Given the description of an element on the screen output the (x, y) to click on. 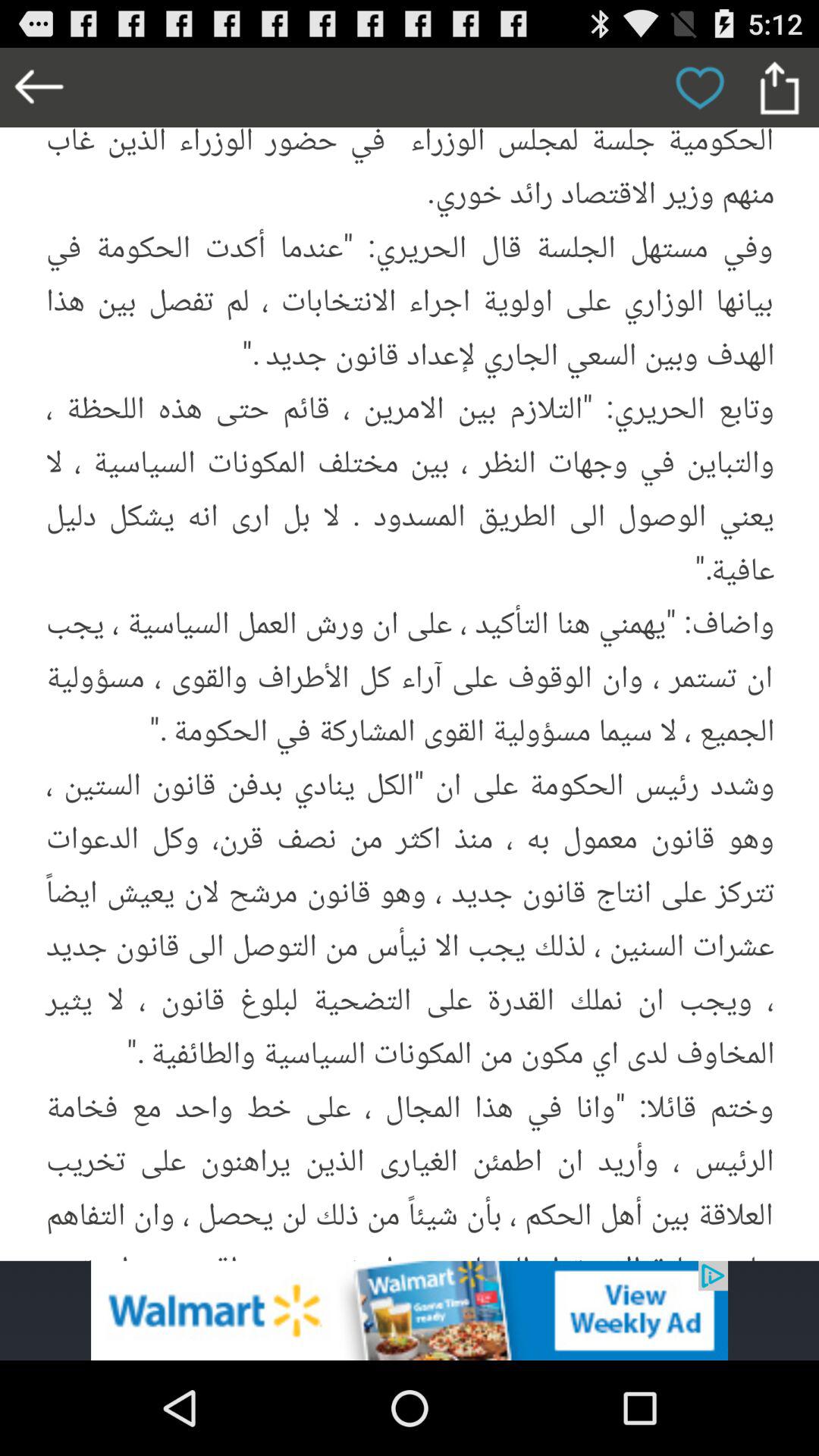
go back (39, 87)
